Given the description of an element on the screen output the (x, y) to click on. 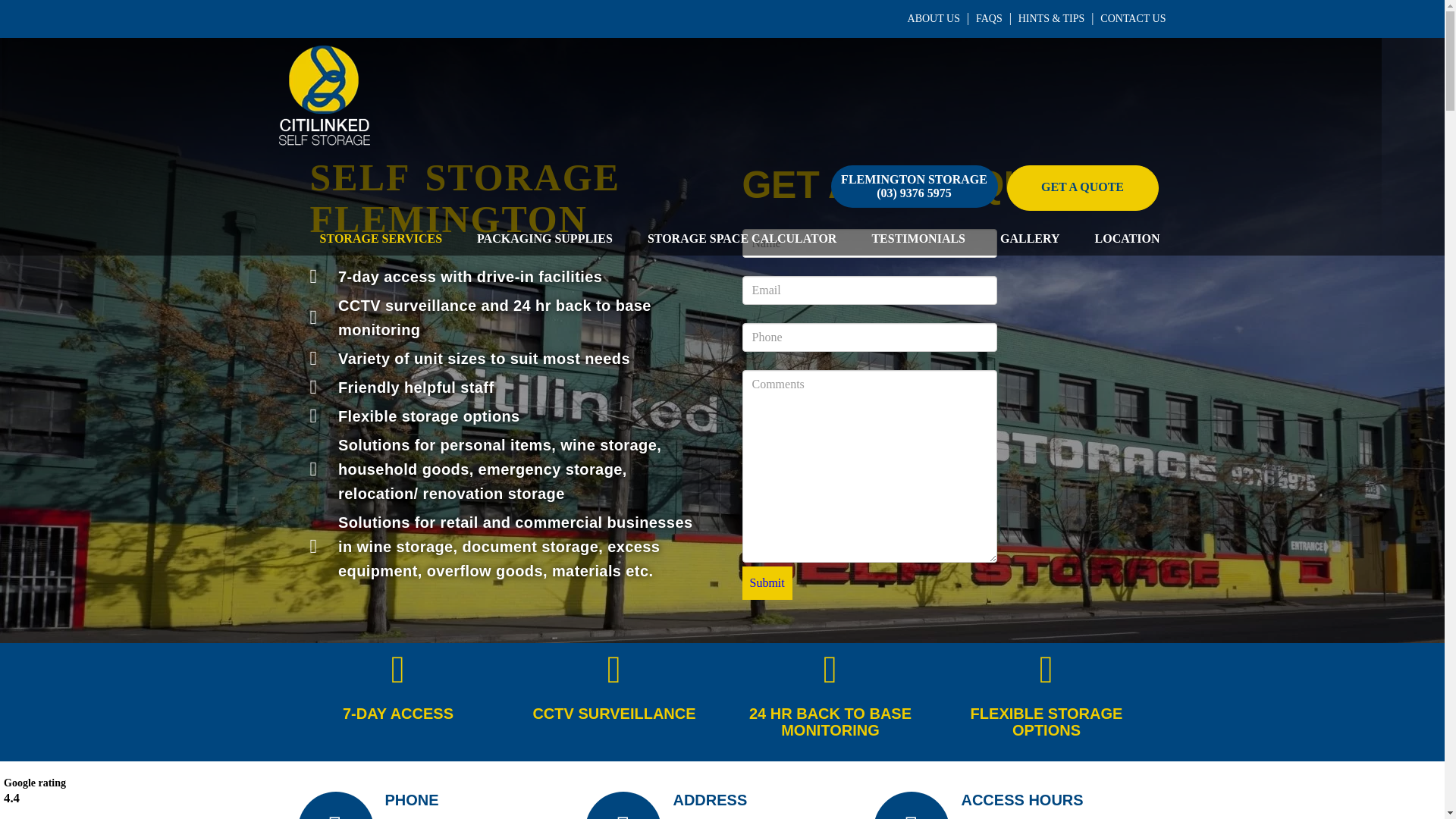
PHONE (412, 799)
Citilinked Self Storage (324, 93)
Submit (766, 582)
FAQS (989, 18)
Get a Quote (1082, 187)
TESTIMONIALS (917, 238)
GALLERY (1029, 238)
Submit (766, 582)
STORAGE SPACE CALCULATOR (742, 238)
STORAGE SERVICES (381, 238)
